Given the description of an element on the screen output the (x, y) to click on. 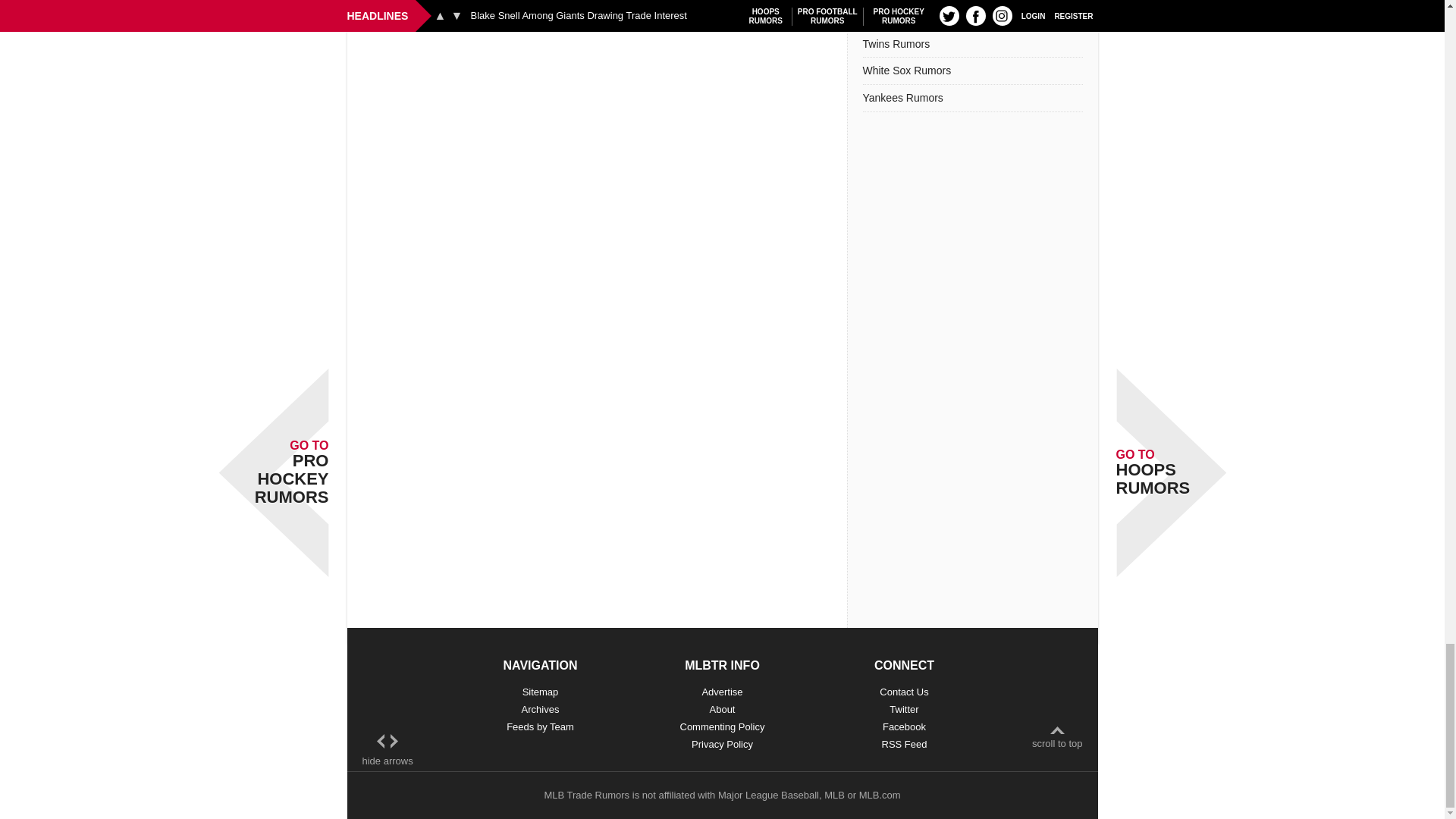
MLB Trade Rumors (585, 794)
